Given the description of an element on the screen output the (x, y) to click on. 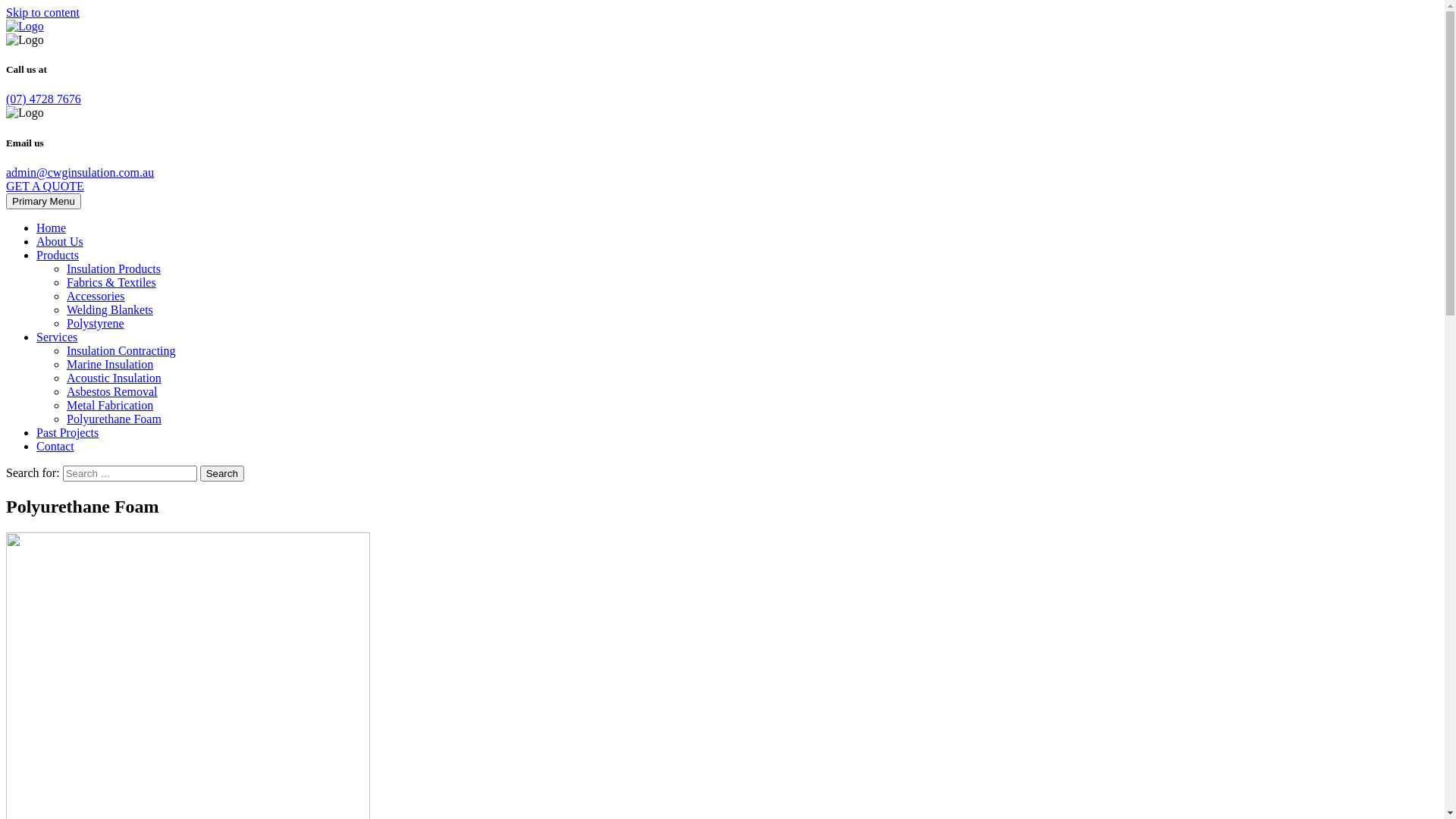
Products Element type: text (57, 254)
GET A QUOTE Element type: text (45, 185)
Marine Insulation Element type: text (109, 363)
Skip to content Element type: text (42, 12)
Polyurethane Foam Element type: text (113, 418)
Polystyrene Element type: text (95, 322)
Acoustic Insulation Element type: text (113, 377)
Home Element type: text (50, 227)
Insulation Products Element type: text (113, 268)
Asbestos Removal Element type: text (111, 391)
(07) 4728 7676 Element type: text (43, 98)
Insulation Contracting Element type: text (120, 350)
Primary Menu Element type: text (43, 201)
admin@cwginsulation.com.au Element type: text (79, 172)
Welding Blankets Element type: text (109, 309)
Metal Fabrication Element type: text (109, 404)
Search Element type: text (222, 473)
Fabrics & Textiles Element type: text (111, 282)
Contact Element type: text (55, 445)
Services Element type: text (56, 336)
About Us Element type: text (59, 241)
Accessories Element type: text (95, 295)
Past Projects Element type: text (67, 432)
